Given the description of an element on the screen output the (x, y) to click on. 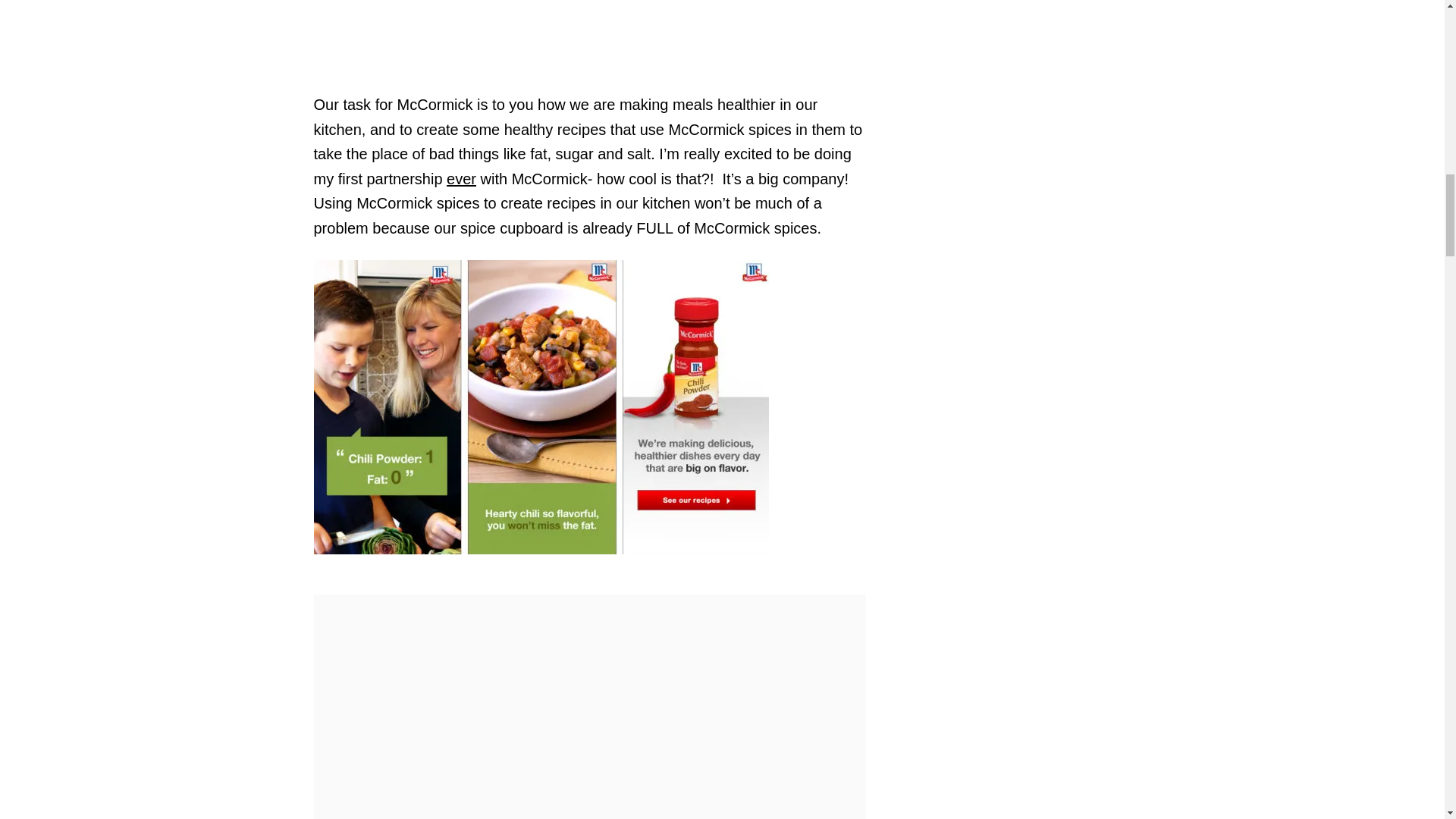
Generation Fresh Banner Ad (541, 406)
